Given the description of an element on the screen output the (x, y) to click on. 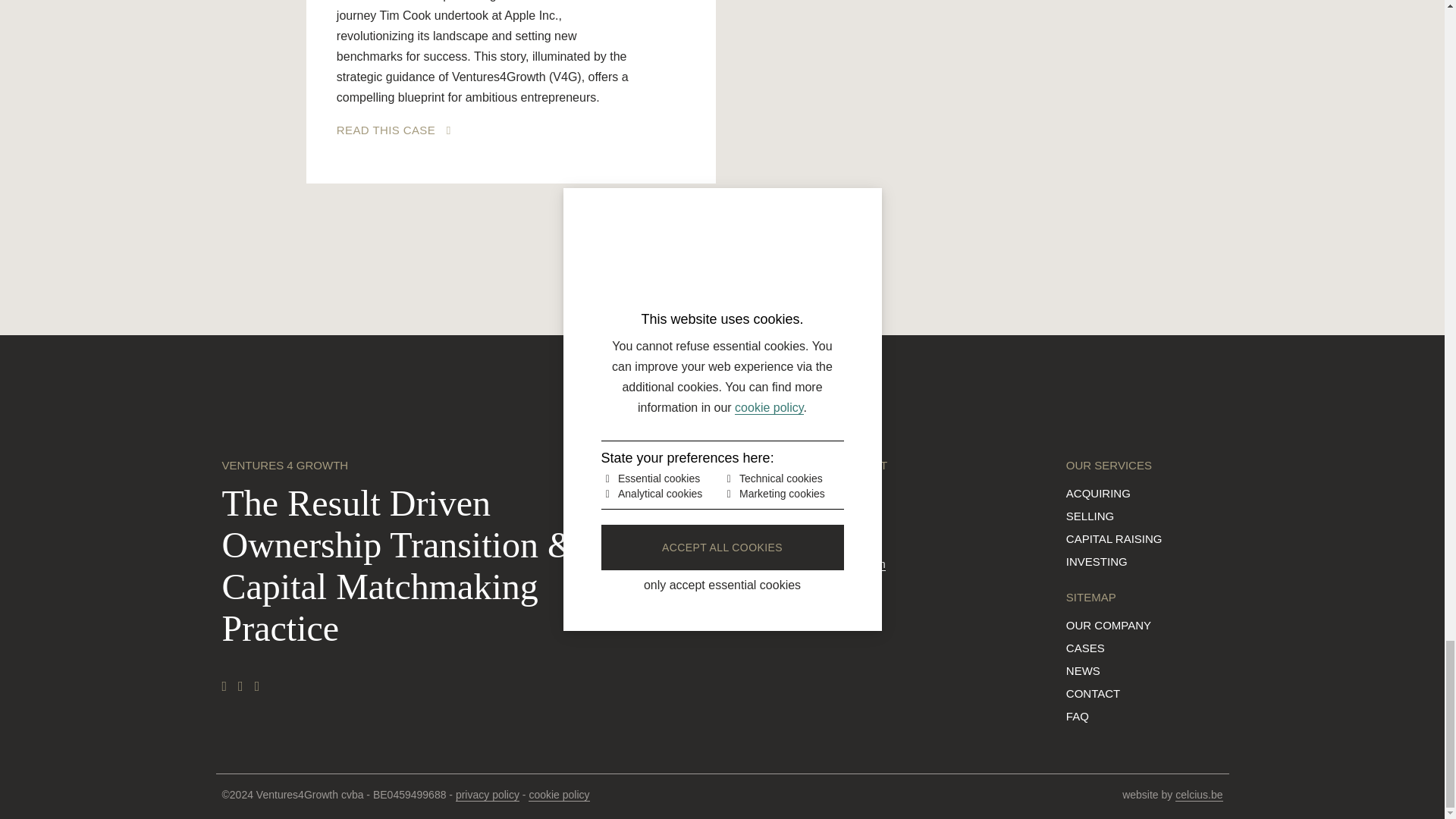
celcius digital agency (1198, 794)
FAQ (1077, 716)
CONTACT (1092, 693)
Privacy policy (487, 794)
privacy policy (487, 794)
OUR COMPANY (1108, 625)
INVESTING (1095, 561)
ACQUIRING (1098, 492)
CAPITAL RAISING (1113, 538)
CASES (1085, 647)
cookie policy (558, 794)
Cookie policy (558, 794)
NEWS (1082, 670)
SELLING (1089, 515)
celcius.be (1198, 794)
